Given the description of an element on the screen output the (x, y) to click on. 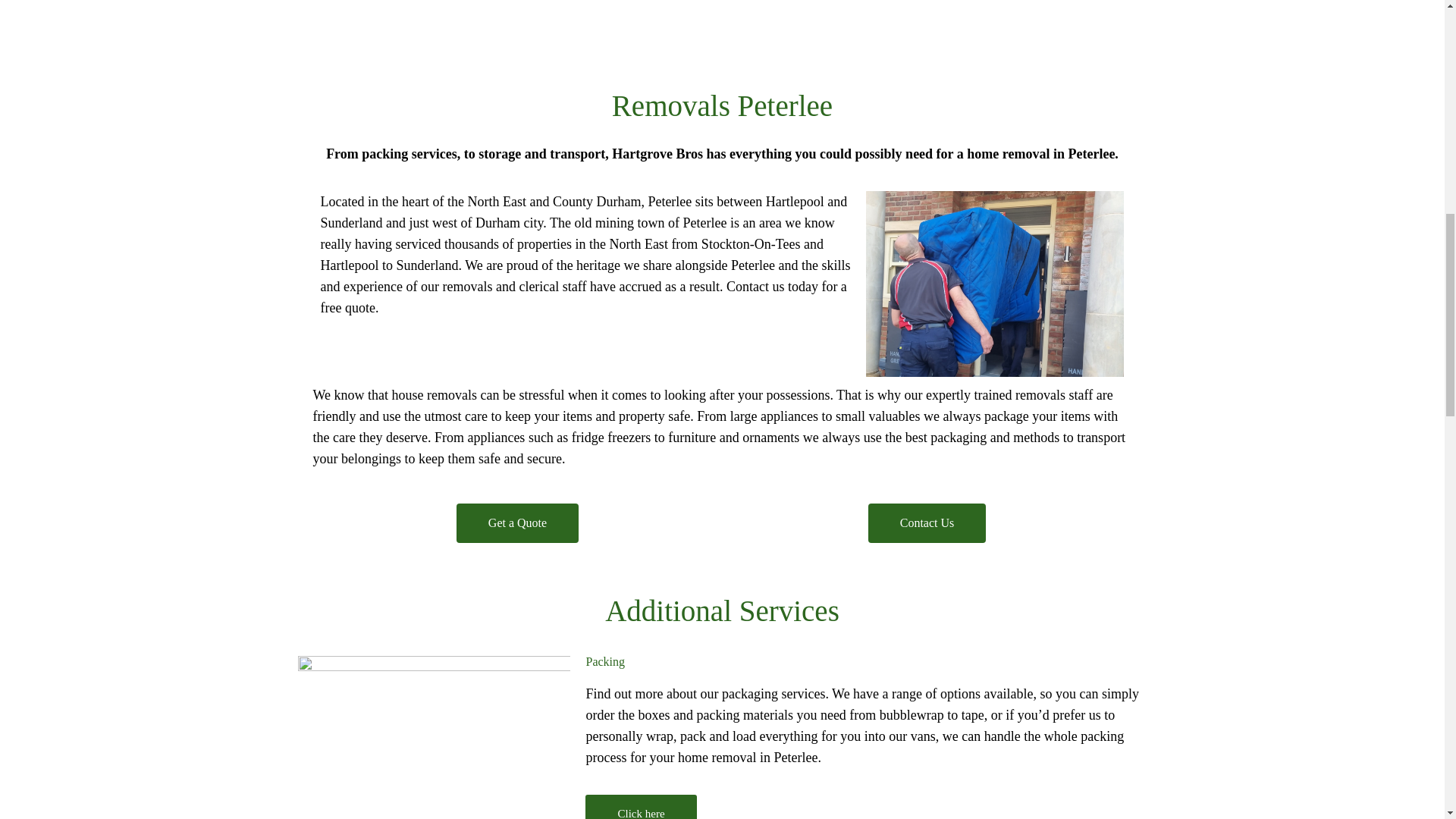
Click here (640, 806)
Contact Us (927, 522)
Get a Quote (517, 522)
